Given the description of an element on the screen output the (x, y) to click on. 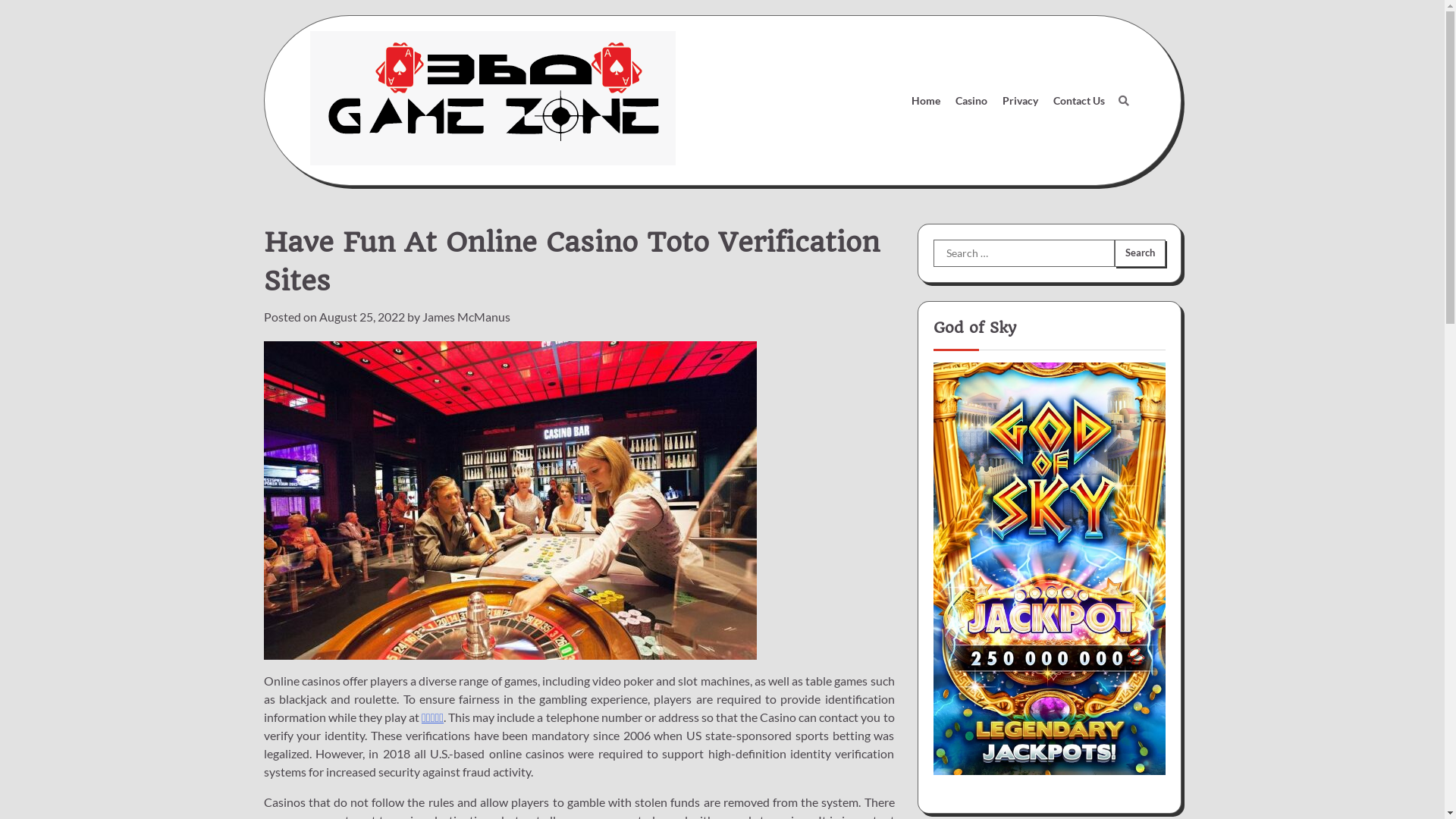
Privacy Element type: text (1019, 100)
August 25, 2022 Element type: text (361, 316)
Contact Us Element type: text (1077, 100)
Home Element type: text (925, 100)
Search Element type: text (1139, 252)
Search Element type: hover (1122, 100)
Casino Element type: text (970, 100)
James McManus Element type: text (465, 316)
Search Element type: text (1088, 136)
